Given the description of an element on the screen output the (x, y) to click on. 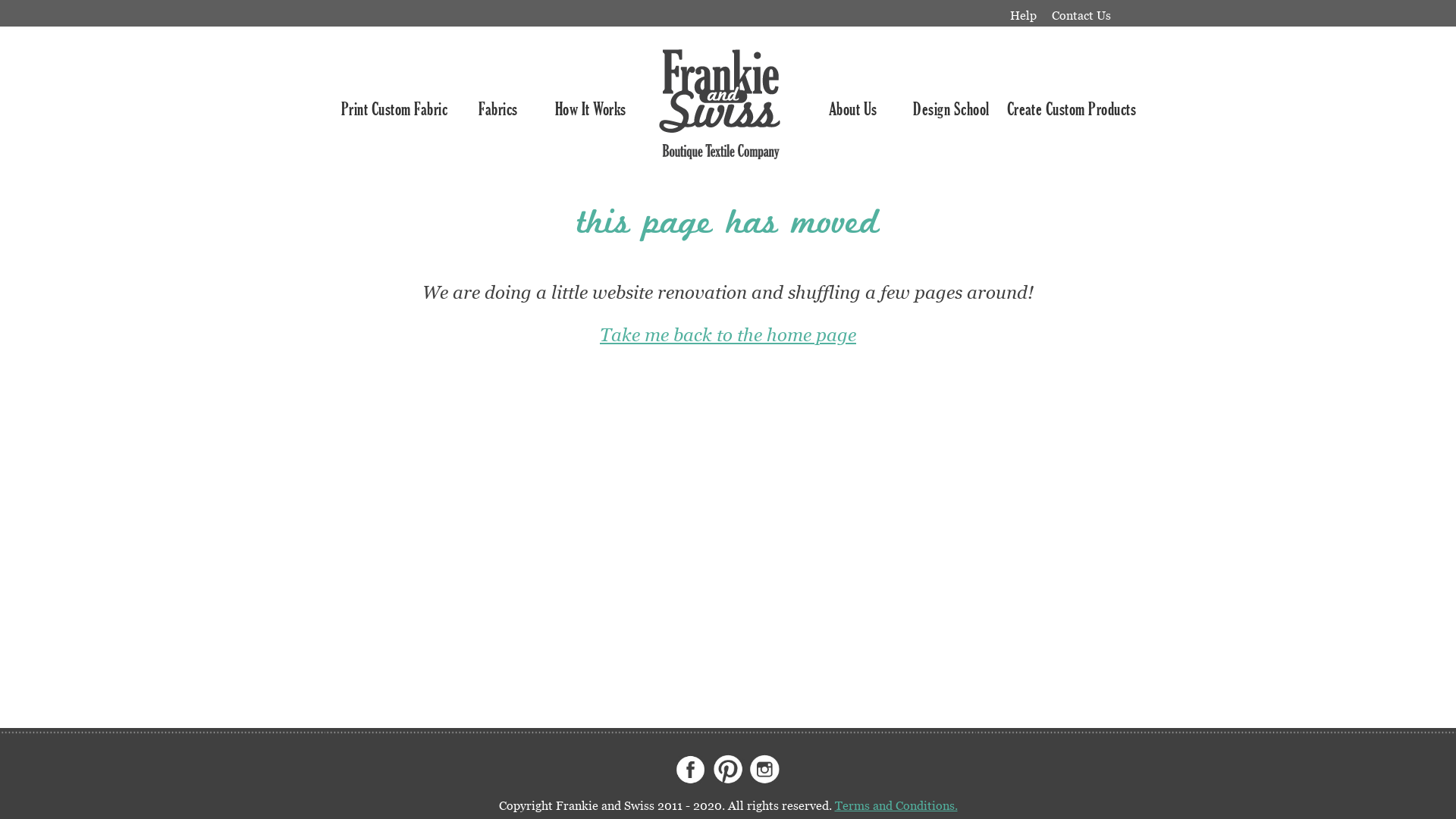
Design School Element type: text (950, 108)
Terms and Conditions. Element type: text (895, 805)
Help Element type: text (1023, 14)
Contact Us Element type: text (1080, 14)
Print Custom Fabric Element type: text (394, 108)
Create Custom Products Element type: text (1071, 108)
About Us Element type: text (852, 108)
Take me back to the home page Element type: text (727, 334)
Fabrics Element type: text (497, 108)
How It Works Element type: text (590, 108)
